Given the description of an element on the screen output the (x, y) to click on. 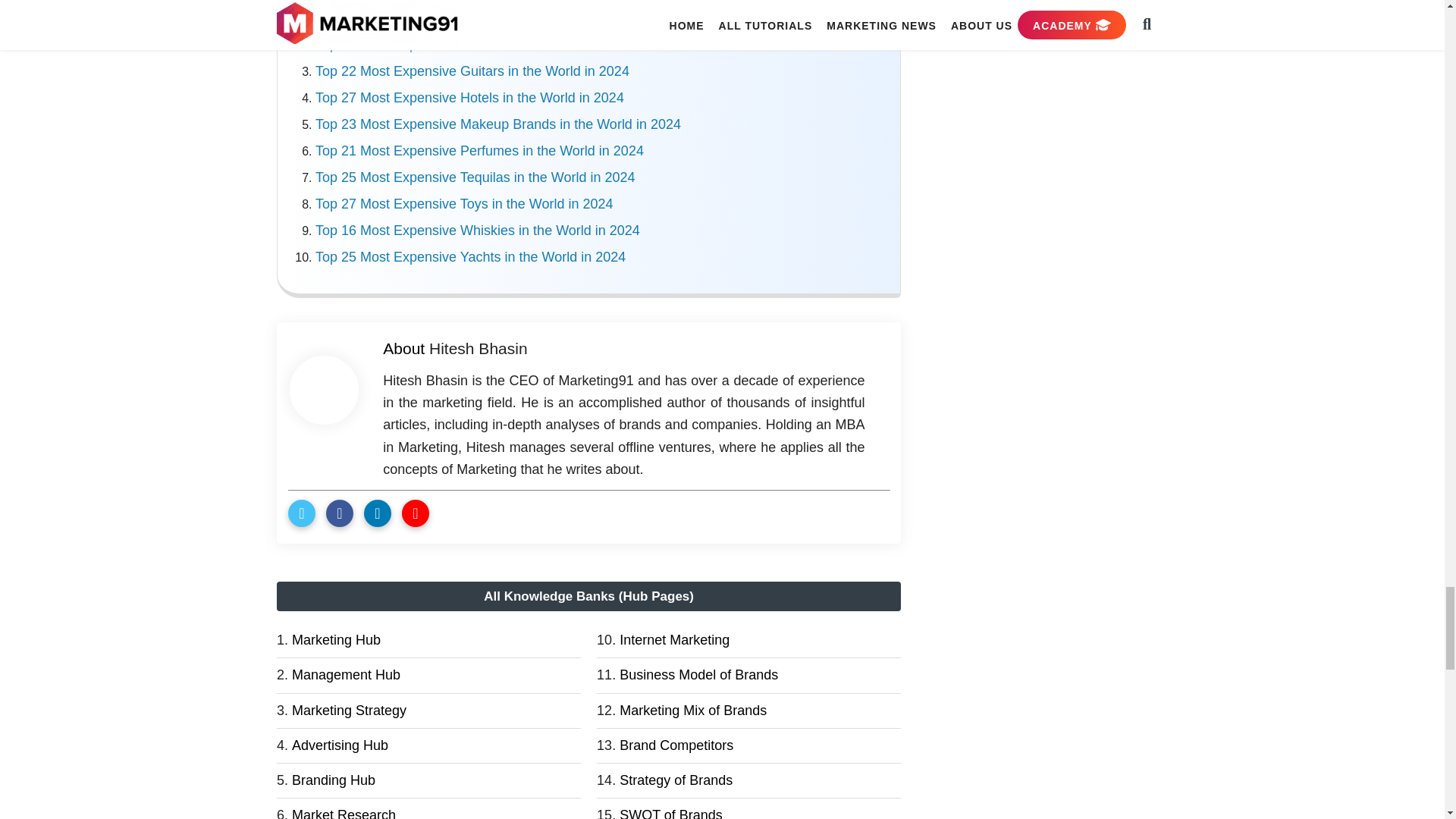
Top 20 Most Expensive Food in the World in 2024 (465, 44)
Top 27 Most Expensive Toys in the World in 2024 (463, 203)
Top 27 Most Expensive Hotels in the World in 2024 (469, 97)
Top 23 Most Expensive Makeup Brands in the World in 2024 (498, 124)
Top 20 Most Expensive Bicycles in the World in 2024 (474, 17)
Top 25 Most Expensive Tequilas in the World in 2024 (474, 177)
Top 22 Most Expensive Guitars in the World in 2024 (471, 70)
Top 21 Most Expensive Perfumes in the World in 2024 (479, 150)
Top 16 Most Expensive Whiskies in the World in 2024 (477, 230)
